Given the description of an element on the screen output the (x, y) to click on. 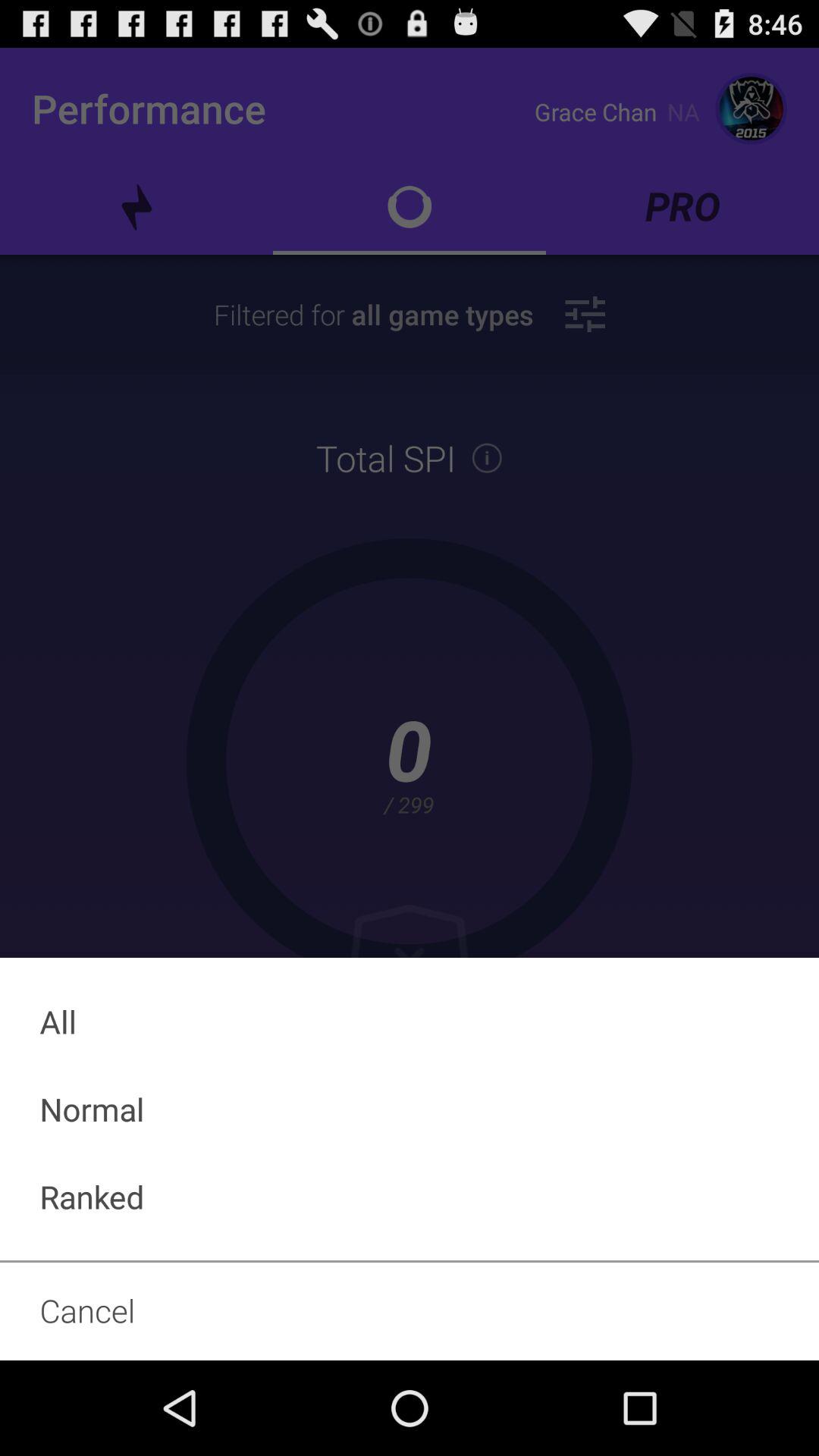
swipe until normal (409, 1108)
